Given the description of an element on the screen output the (x, y) to click on. 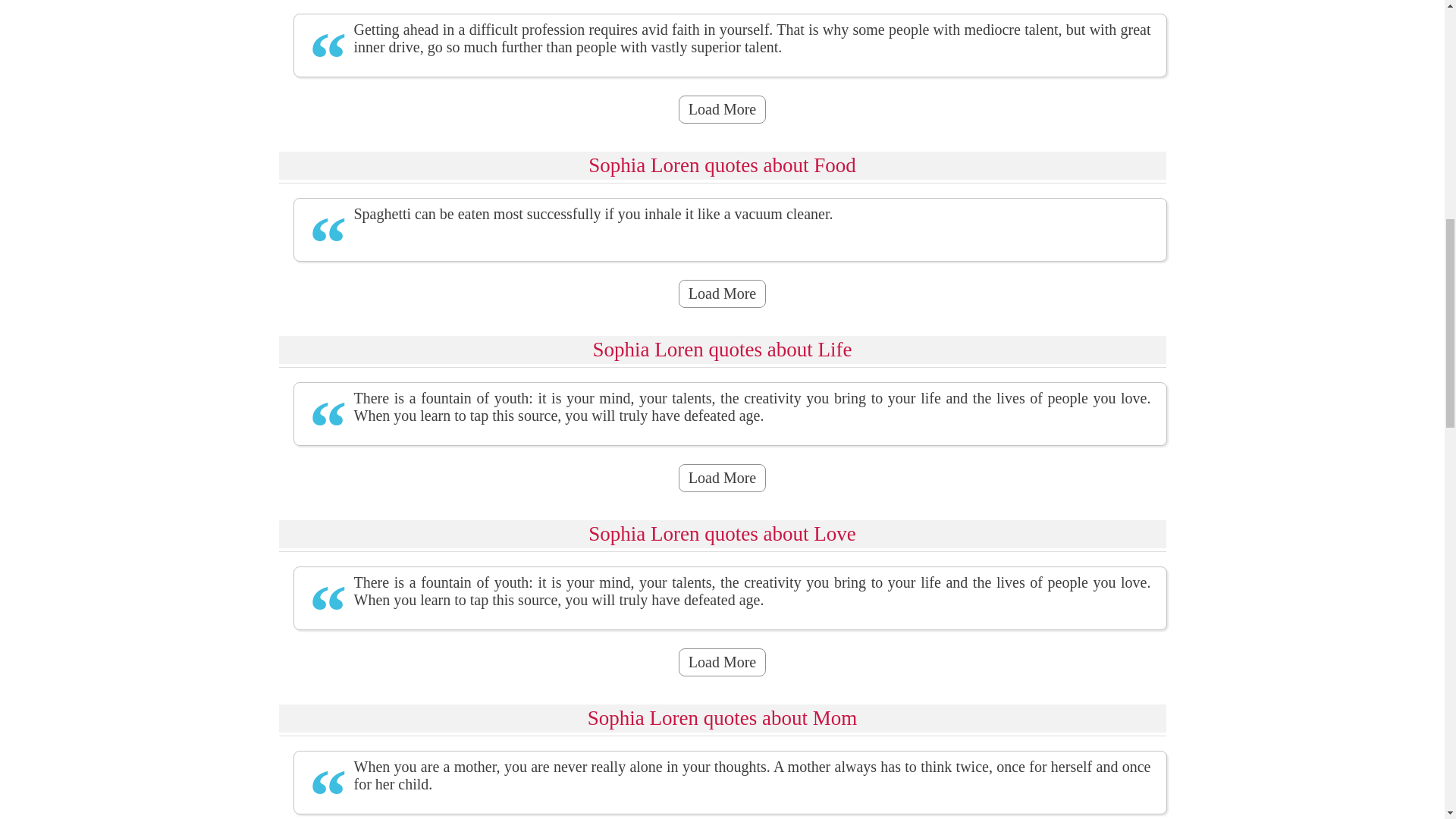
Load More (721, 293)
Load More (721, 662)
Load More (721, 109)
Load More (721, 478)
